Given the description of an element on the screen output the (x, y) to click on. 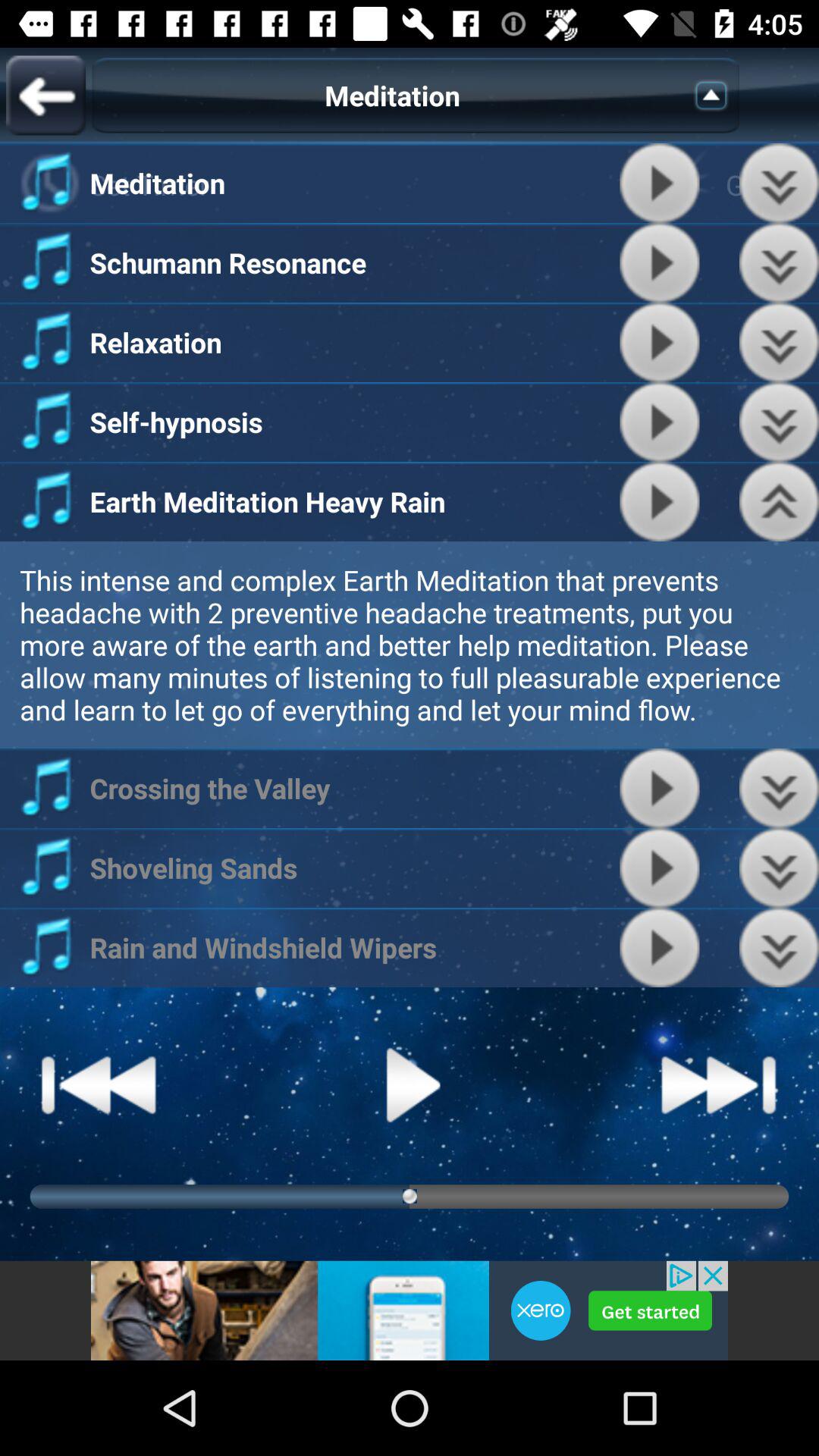
tap to play (659, 947)
